Given the description of an element on the screen output the (x, y) to click on. 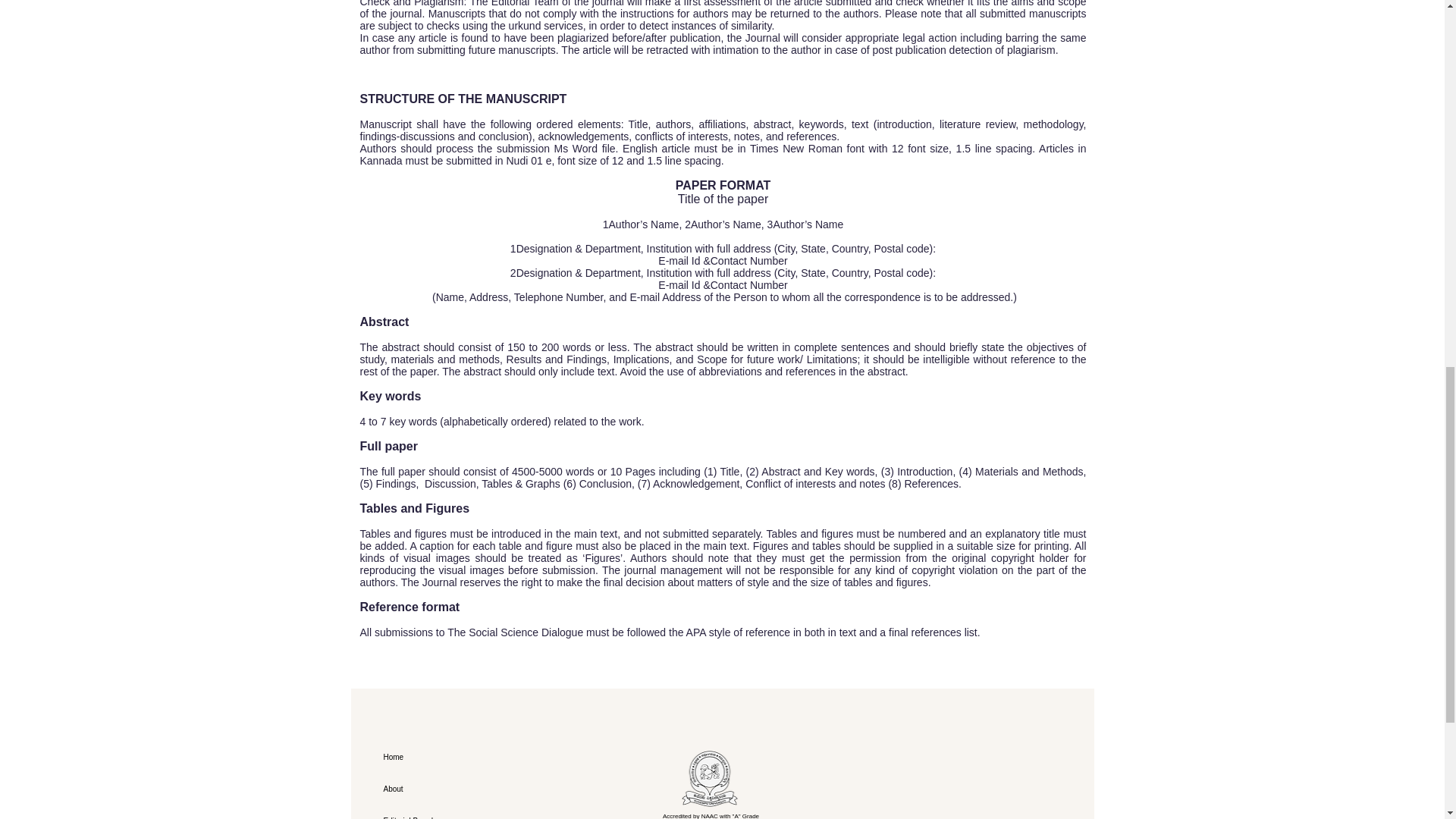
Home (450, 757)
About (450, 789)
Editorial Board (450, 812)
